Given the description of an element on the screen output the (x, y) to click on. 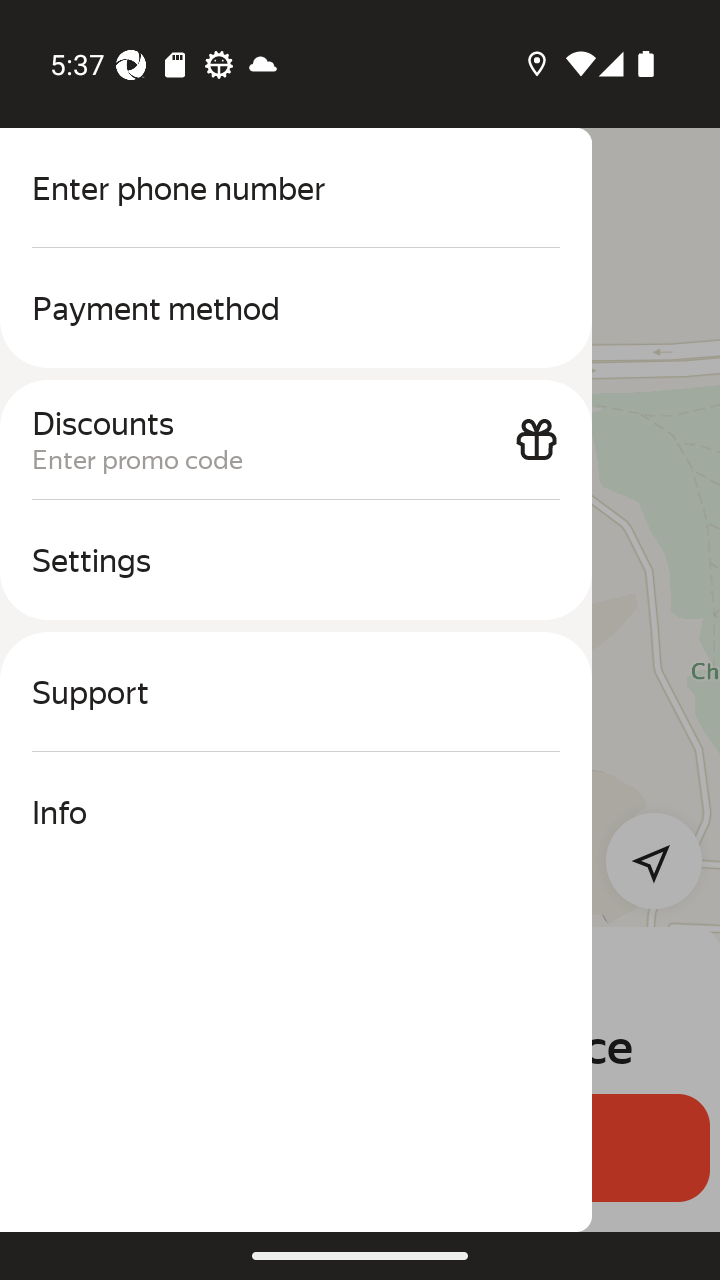
Enter phone number (295, 188)
Payment method (295, 308)
Settings (295, 559)
Support (295, 692)
Info (295, 811)
